Given the description of an element on the screen output the (x, y) to click on. 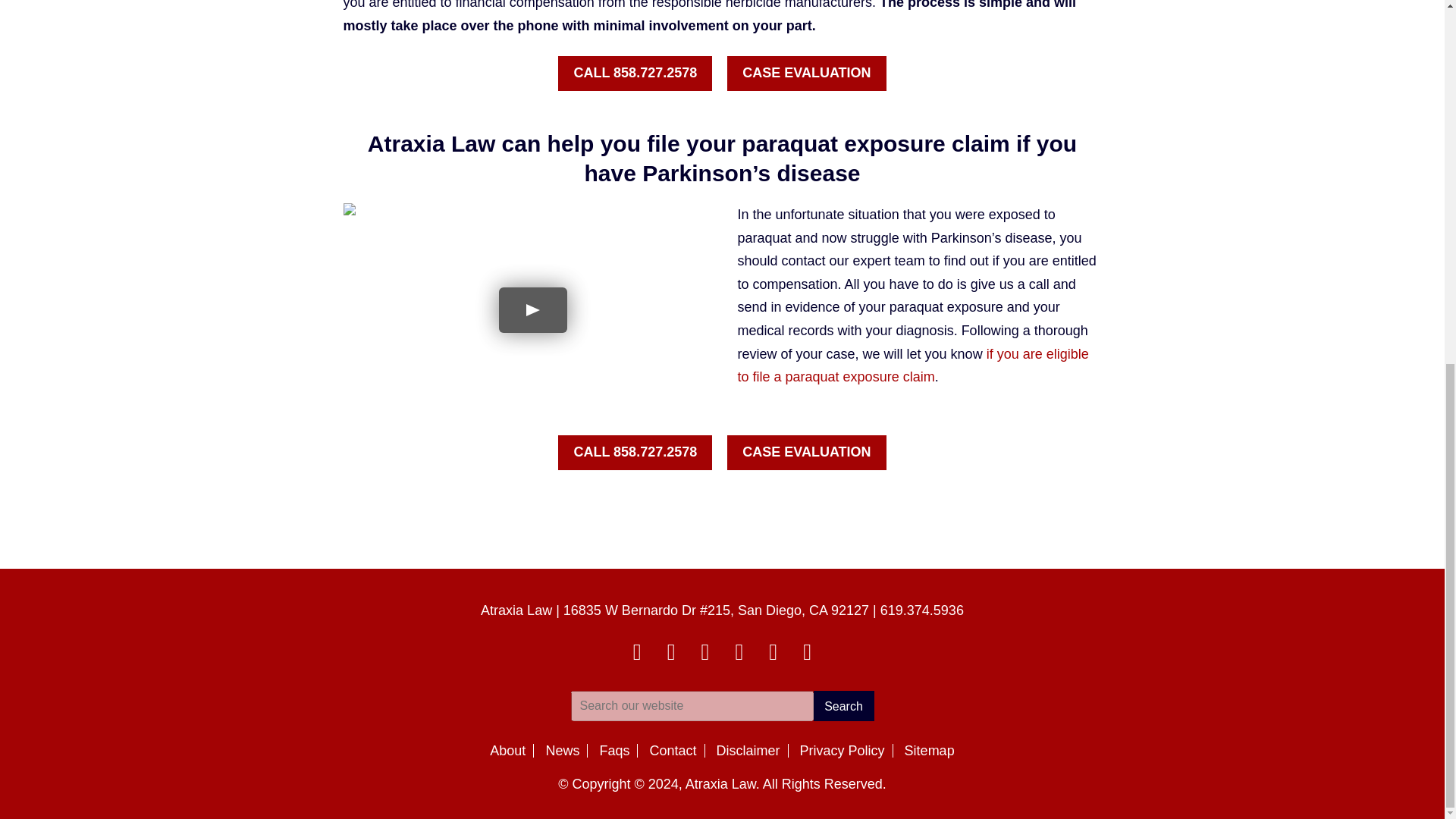
619.374.5936 (921, 610)
CALL 858.727.2578 (634, 452)
CASE EVALUATION (805, 452)
CALL 858.727.2578 (634, 73)
if you are eligible to file a paraquat exposure claim (911, 365)
Evidence Needed for Compensation Paraquat Exposure Claim (911, 365)
CASE EVALUATION (805, 73)
